Given the description of an element on the screen output the (x, y) to click on. 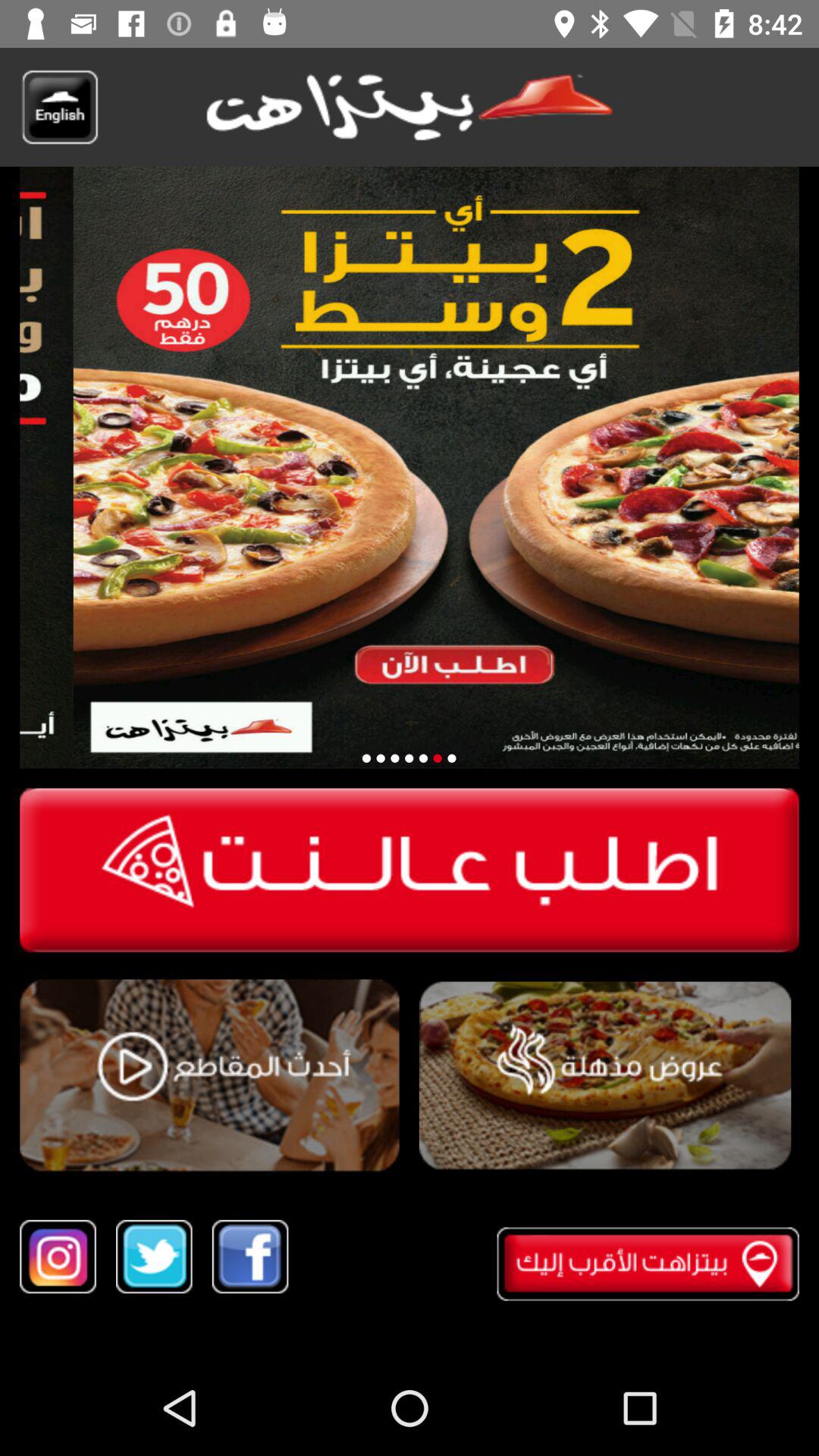
go to next queued image (380, 758)
